Given the description of an element on the screen output the (x, y) to click on. 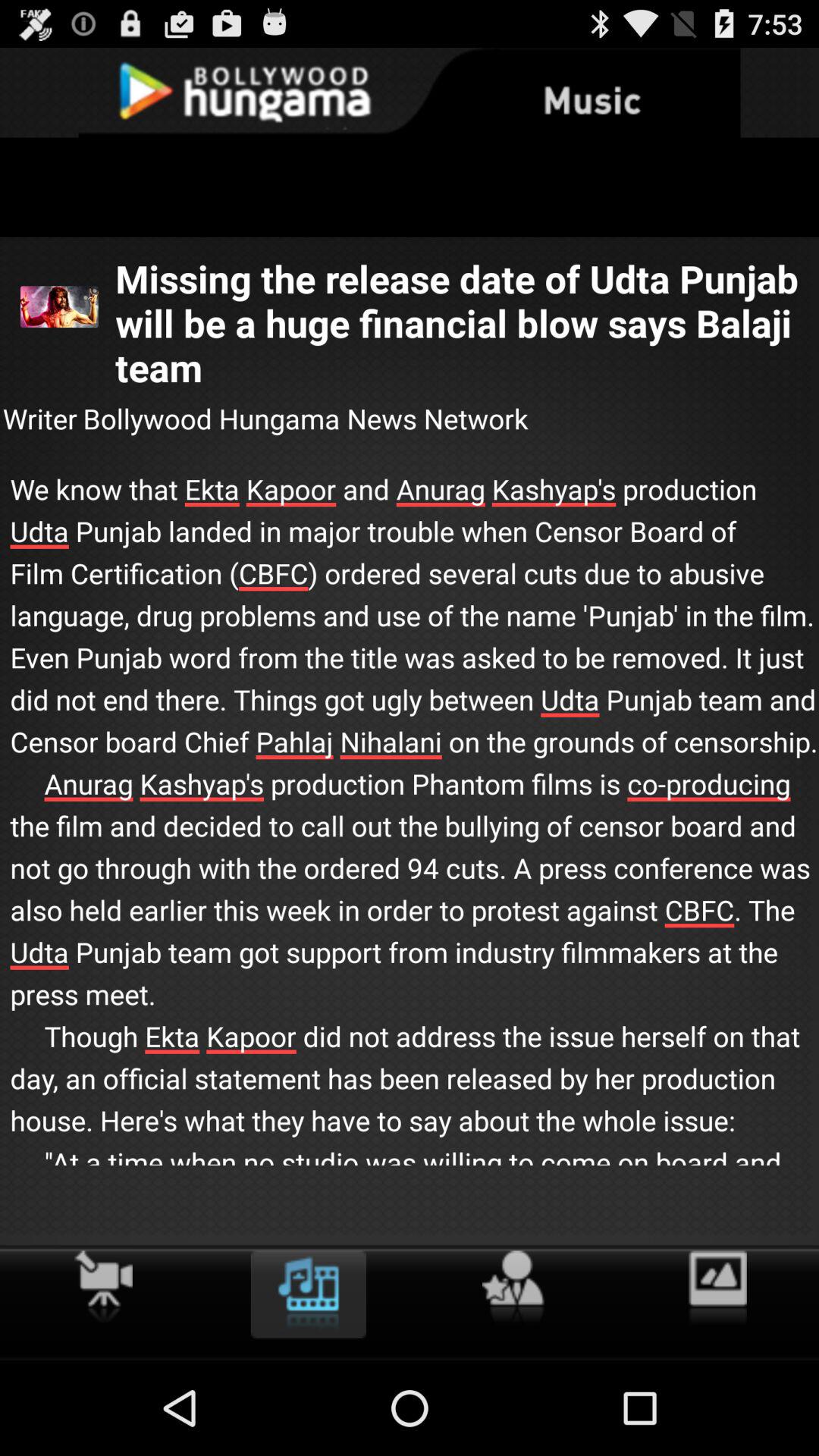
select the icon at the bottom right corner (717, 1288)
